Given the description of an element on the screen output the (x, y) to click on. 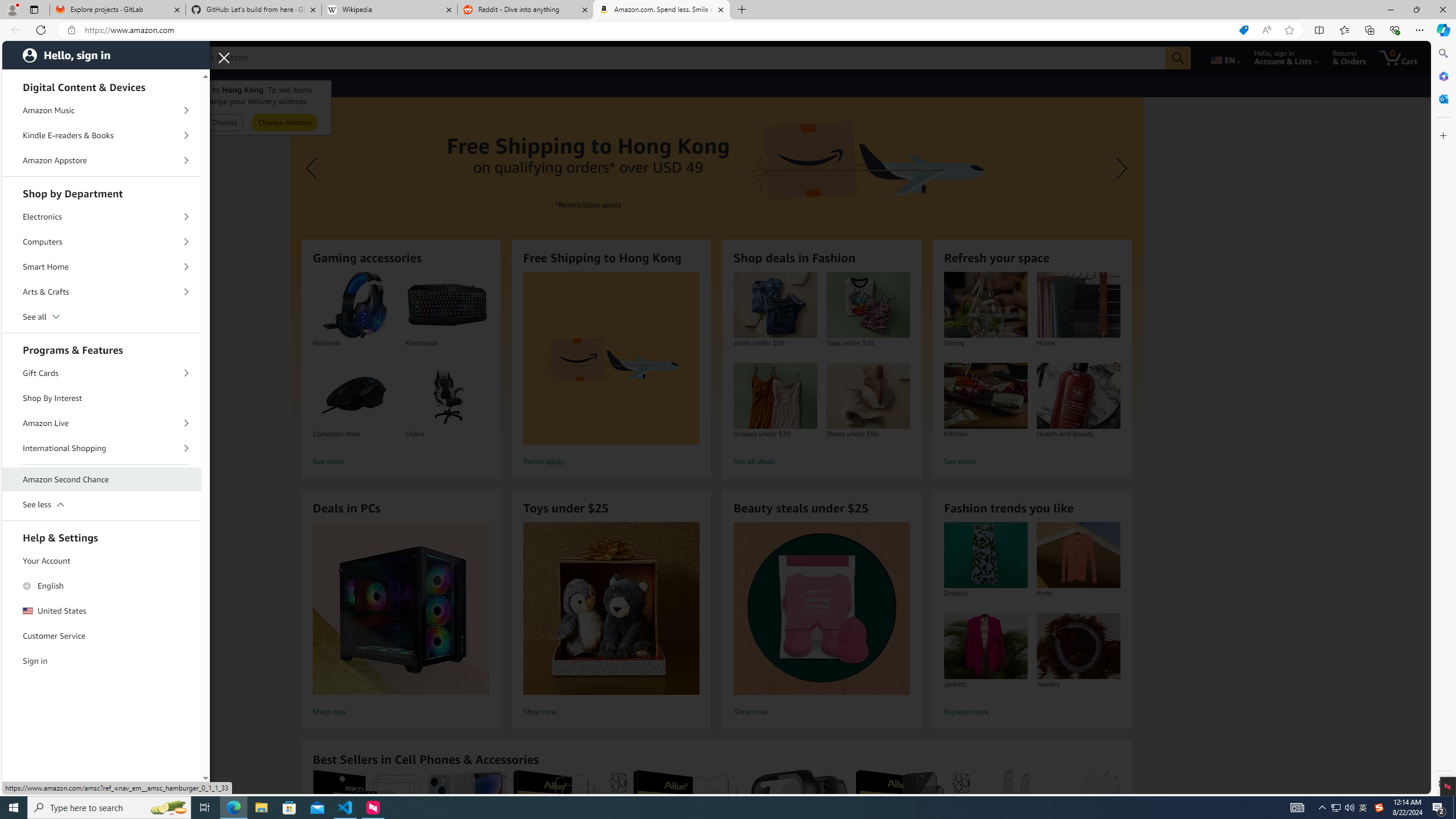
Amazon Second Chance (101, 479)
Programs & Features (101, 348)
Kindle E-readers & Books (101, 135)
Computers (101, 241)
See all (101, 316)
International Shopping (101, 448)
Amazon.com. Spend less. Smile more. (660, 9)
